Given the description of an element on the screen output the (x, y) to click on. 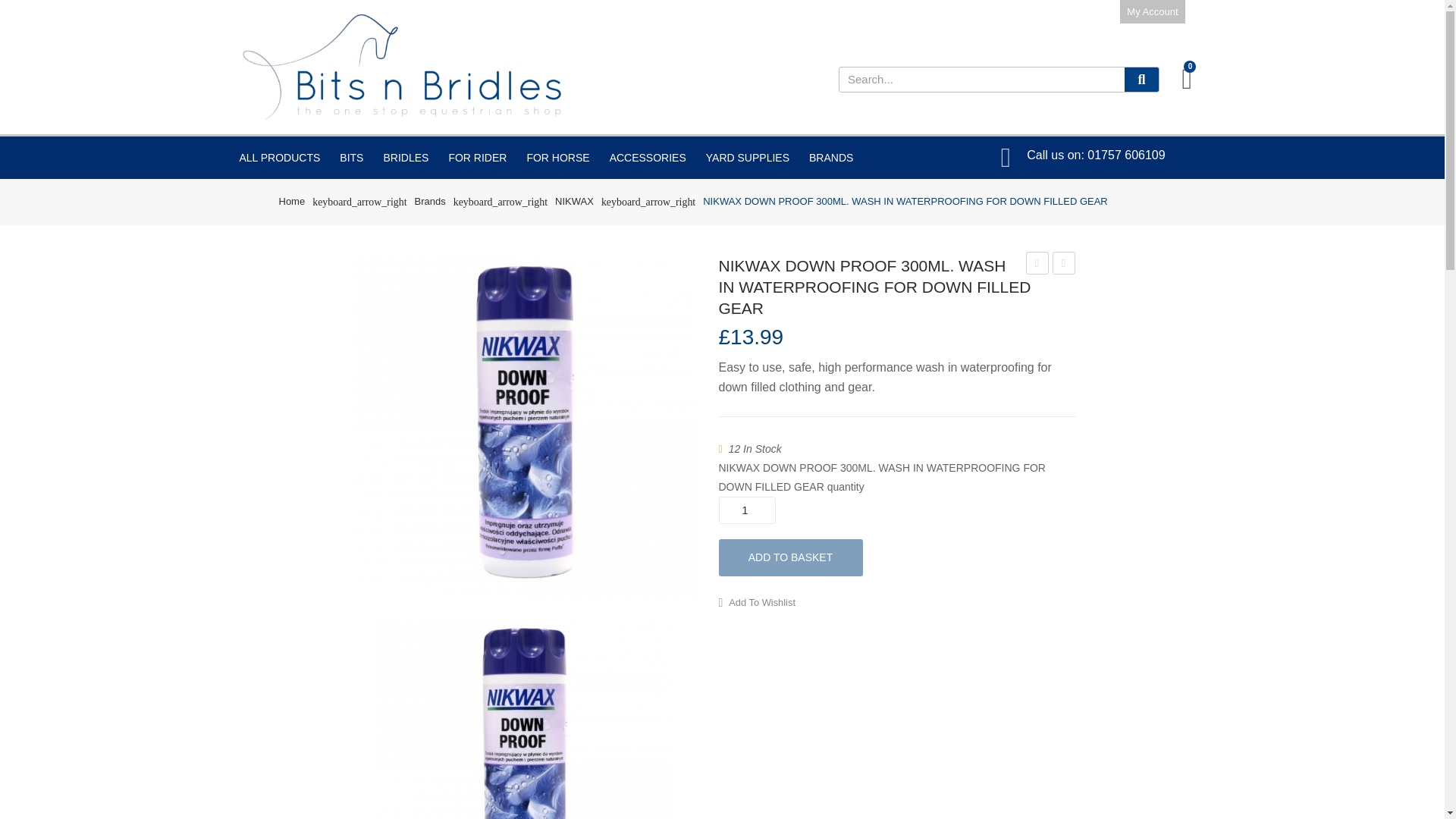
My Account (1152, 11)
BITS (351, 157)
BRIDLES (405, 157)
FOR HORSE (557, 157)
ALL PRODUCTS (279, 157)
1 (747, 510)
FOR RIDER (477, 157)
